Given the description of an element on the screen output the (x, y) to click on. 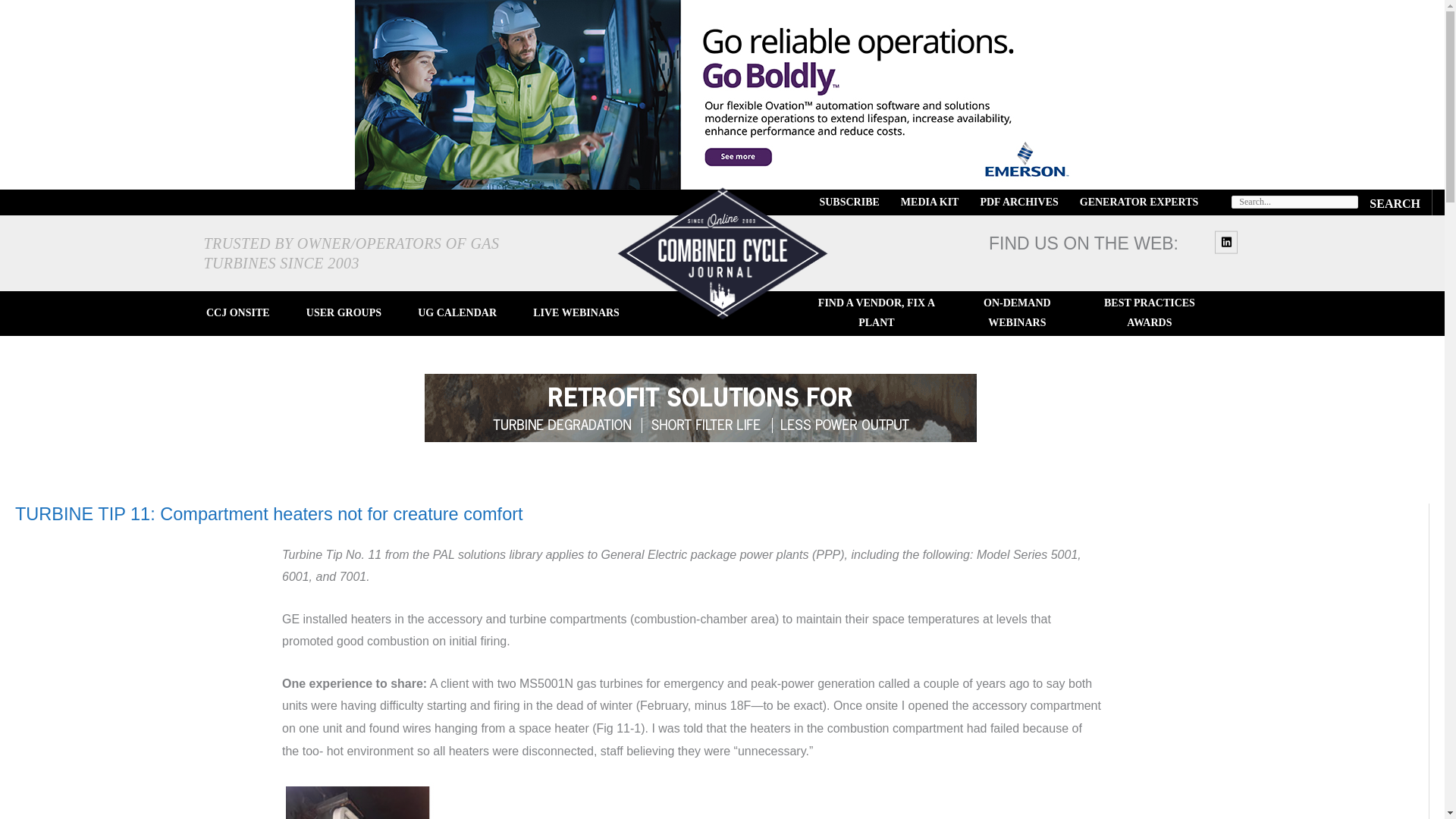
MEDIA KIT (929, 201)
Search (1394, 202)
USER GROUPS (343, 313)
CCJ ONSITE (237, 313)
FIND A VENDOR, FIX A PLANT (876, 313)
LIVE WEBINARS (577, 313)
Search (1394, 202)
found-wires-hanging-from-a-space-heater (357, 800)
BEST PRACTICES AWARDS (1148, 313)
PDF ARCHIVES (1018, 201)
Search (1394, 202)
SUBSCRIBE (848, 201)
GENERATOR EXPERTS (1138, 201)
ON-DEMAND WEBINARS (1016, 313)
UG CALENDAR (456, 313)
